Given the description of an element on the screen output the (x, y) to click on. 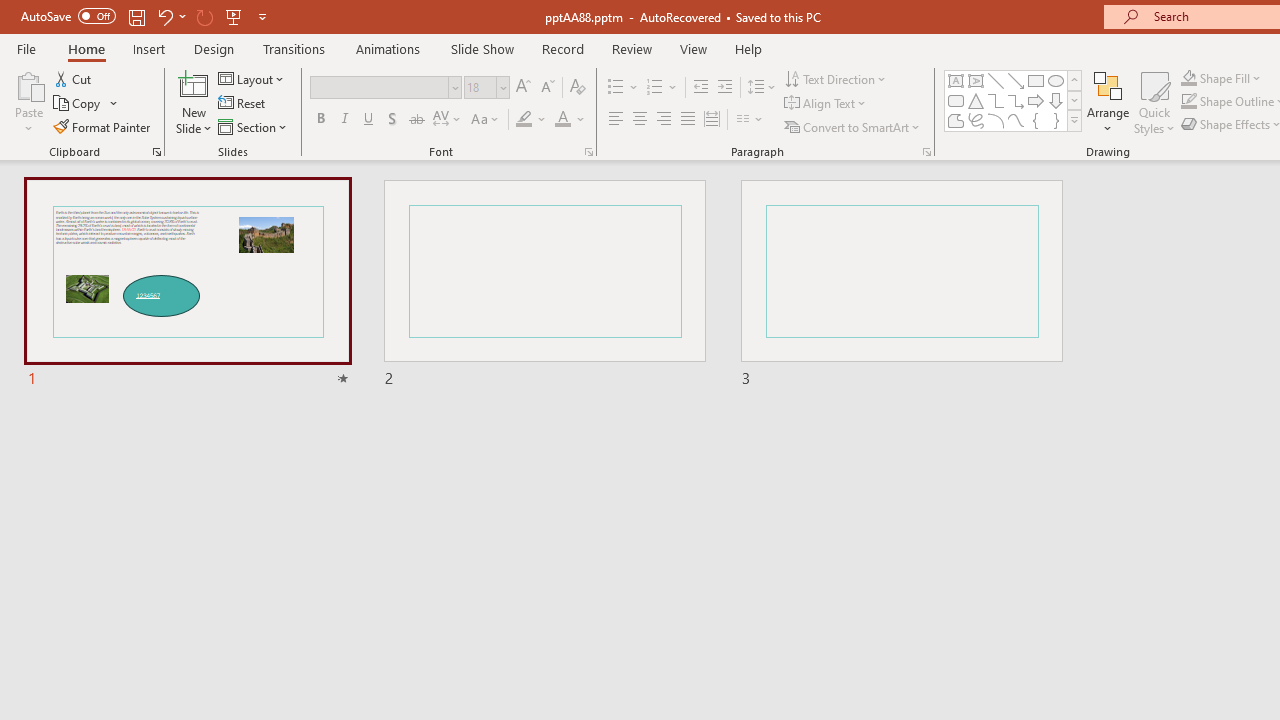
Bullets (623, 87)
Text Highlight Color (531, 119)
Animations (388, 48)
Shape Fill Aqua, Accent 2 (1188, 78)
Freeform: Scribble (975, 120)
Quick Access Toolbar (145, 16)
Format Painter (103, 126)
Font (379, 87)
Section (254, 126)
Arrow: Down (1055, 100)
Reset (243, 103)
AutomationID: ShapesInsertGallery (1014, 100)
Shape Fill (1221, 78)
Design (214, 48)
Save (136, 15)
